Given the description of an element on the screen output the (x, y) to click on. 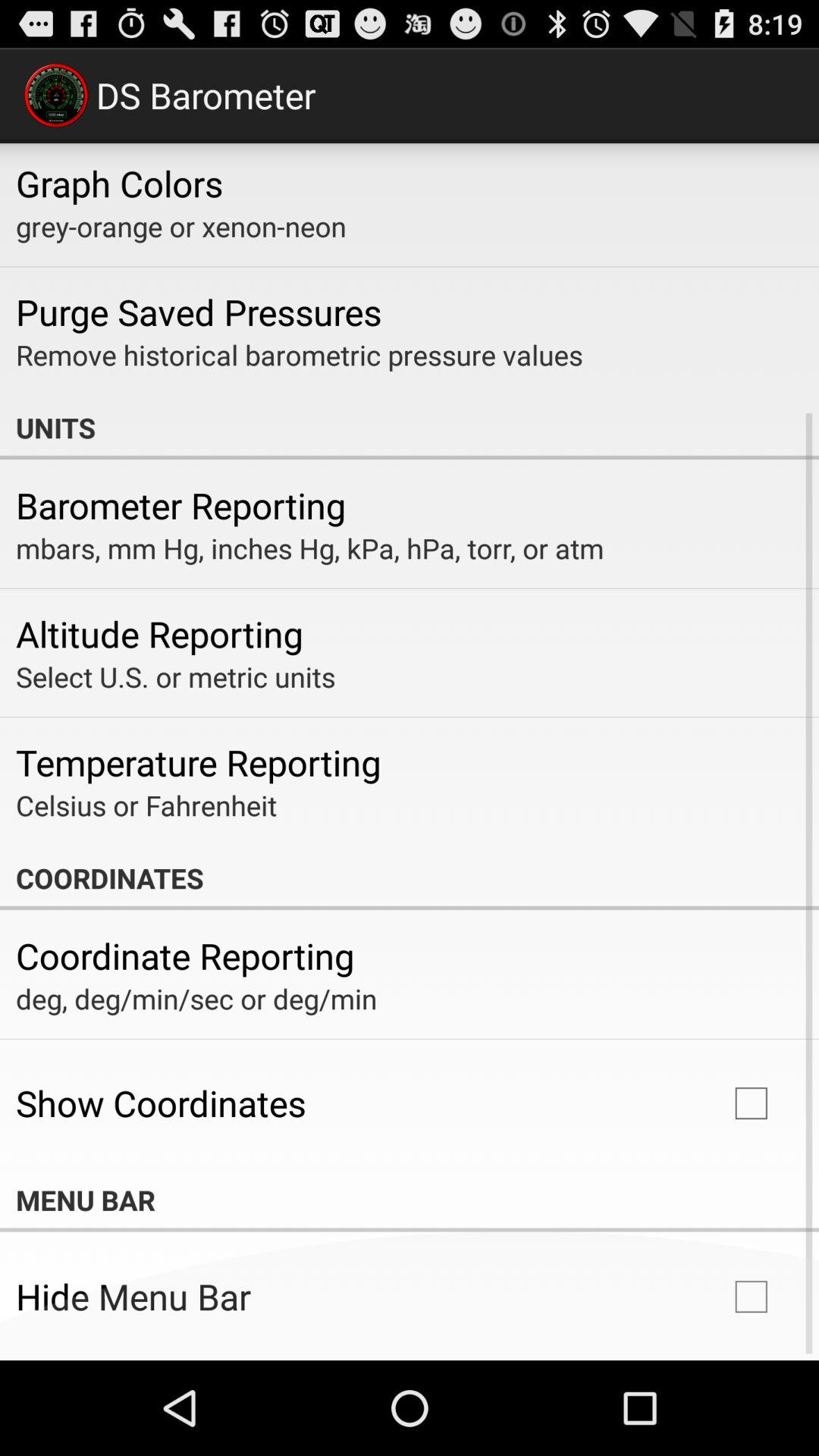
press coordinate reporting (184, 955)
